Given the description of an element on the screen output the (x, y) to click on. 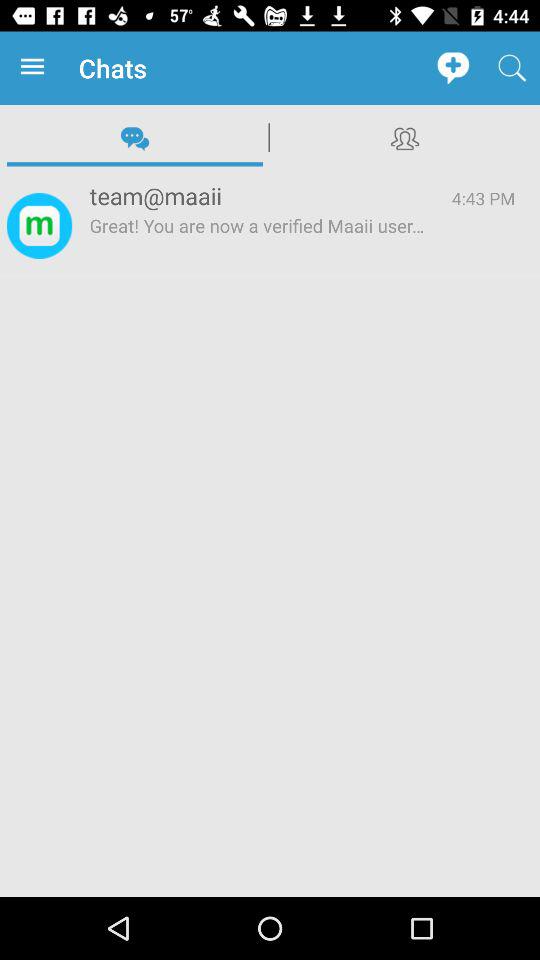
press app to the left of chats icon (36, 68)
